Given the description of an element on the screen output the (x, y) to click on. 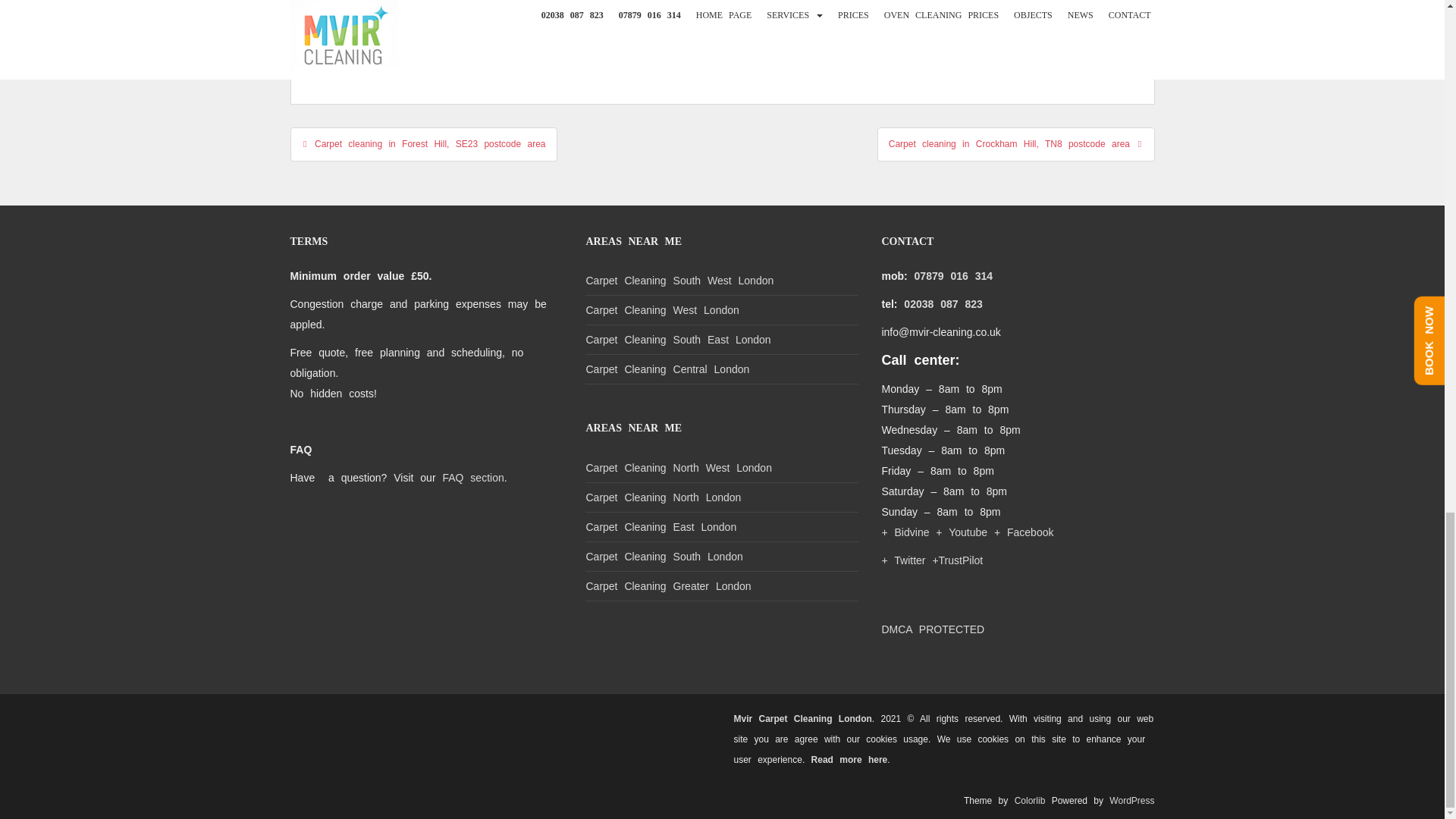
Carpet cleaning in Forest Hill, SE23 postcode area (422, 144)
CARPET (353, 34)
Steam (534, 57)
carpet cleaning services (606, 34)
carpet cleaning solution (728, 34)
carpet cleaning (503, 34)
professional (1026, 34)
Carpet cleaning in Crockham Hill, TN8 postcode area (1015, 144)
solution (488, 57)
Deep (973, 34)
carpet stains removal (844, 34)
carpet cleaners (421, 34)
Professional carpet cleaning (395, 57)
steam carpet cleaners (724, 57)
steam capet cleaning (611, 57)
